Given the description of an element on the screen output the (x, y) to click on. 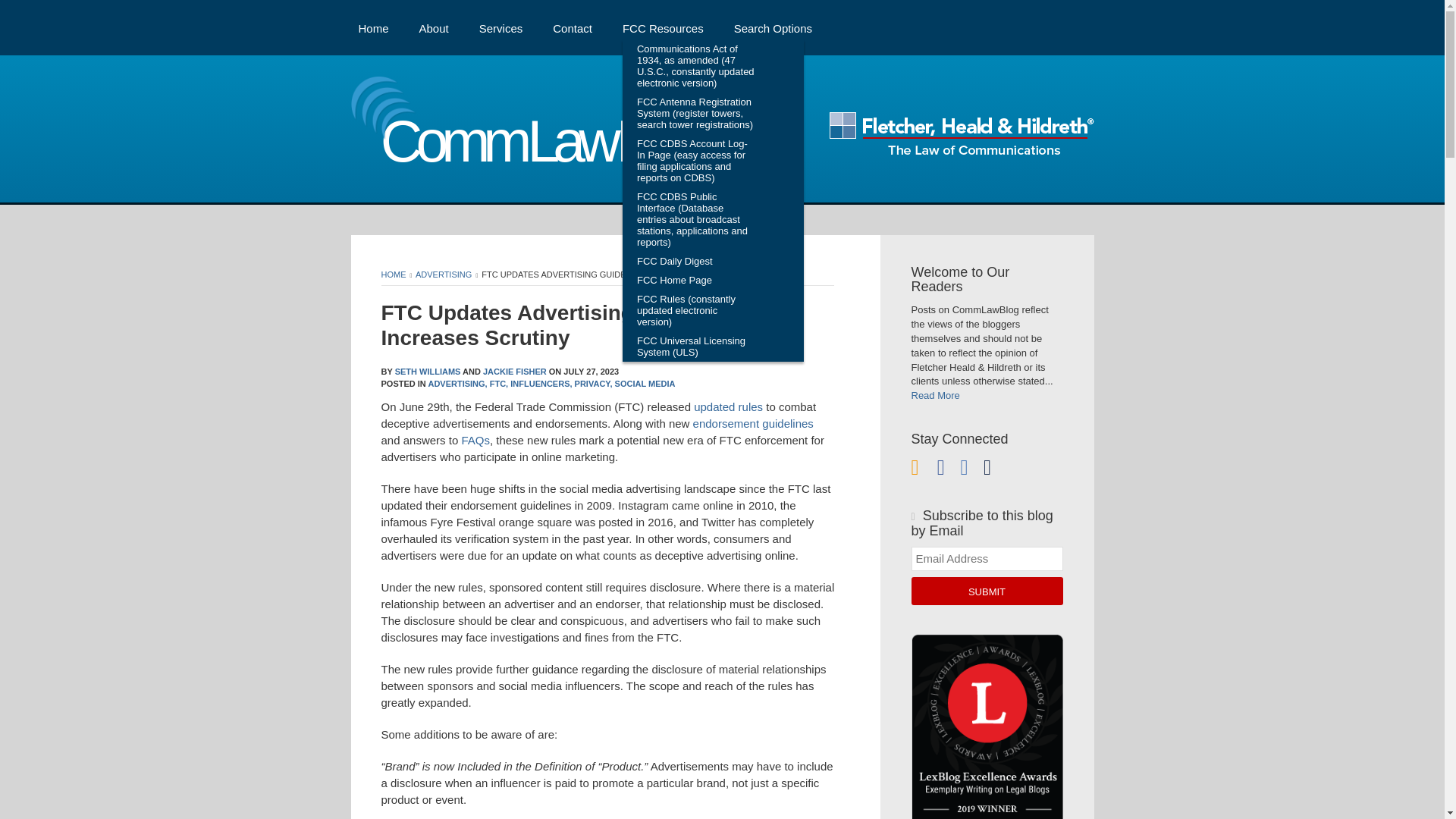
CommLawBlog (533, 145)
Home (373, 28)
INFLUENCERS, (541, 383)
JACKIE FISHER (515, 370)
SETH WILLIAMS (427, 370)
ADVERTISING (442, 274)
ADVERTISING, (457, 383)
Services (500, 28)
updated rules (728, 406)
Contact (572, 28)
FCC Resources (663, 28)
FTC, (498, 383)
SOCIAL MEDIA (644, 383)
SUBMIT (986, 591)
FCC Home Page (695, 280)
